Given the description of an element on the screen output the (x, y) to click on. 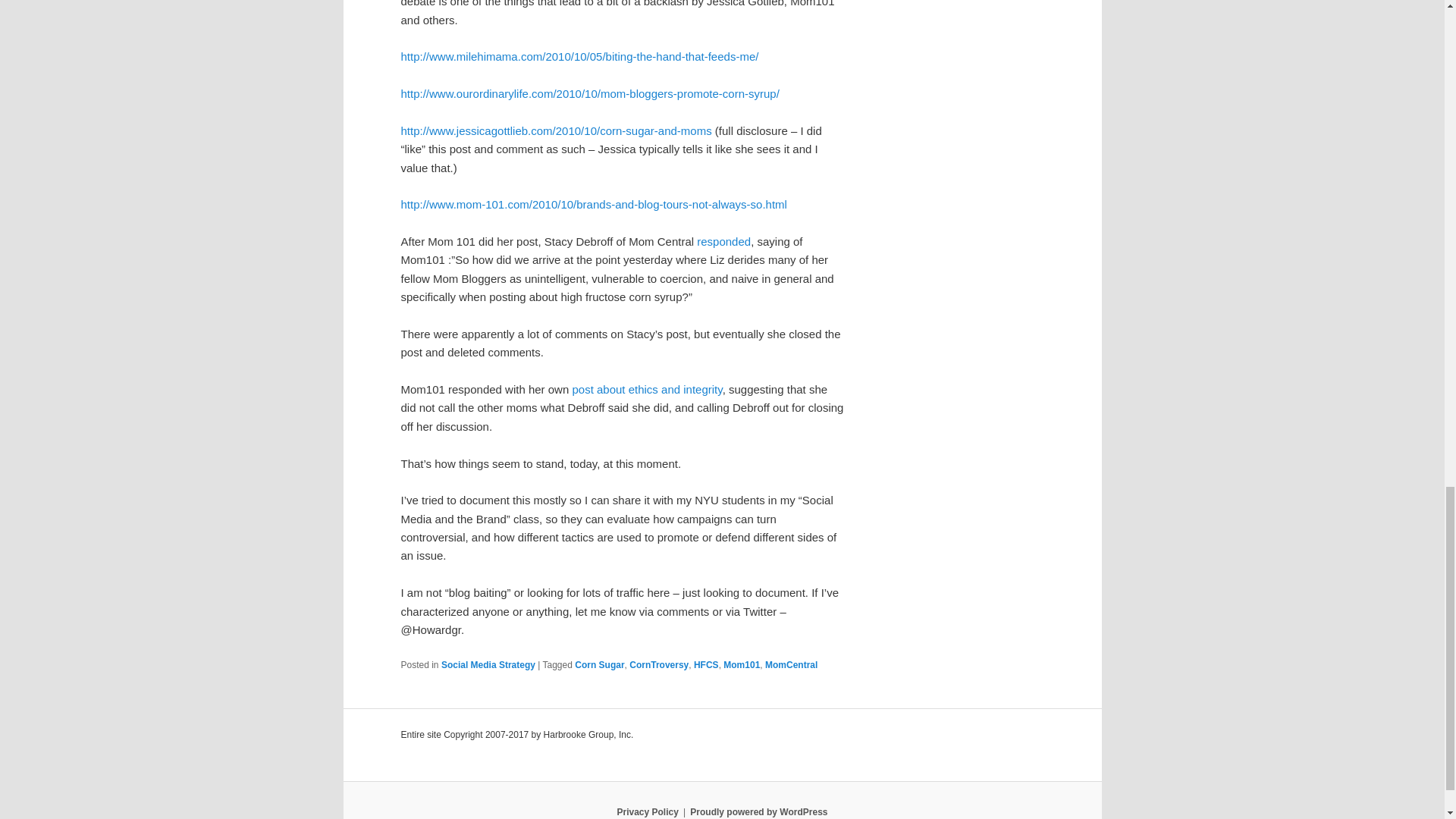
Corn Sugar (599, 665)
HFCS (706, 665)
Mom101 (741, 665)
responded (724, 241)
CornTroversy (658, 665)
Semantic Personal Publishing Platform (758, 811)
Social Media Strategy (488, 665)
MomCentral (790, 665)
post about ethics and integrity (645, 389)
